Given the description of an element on the screen output the (x, y) to click on. 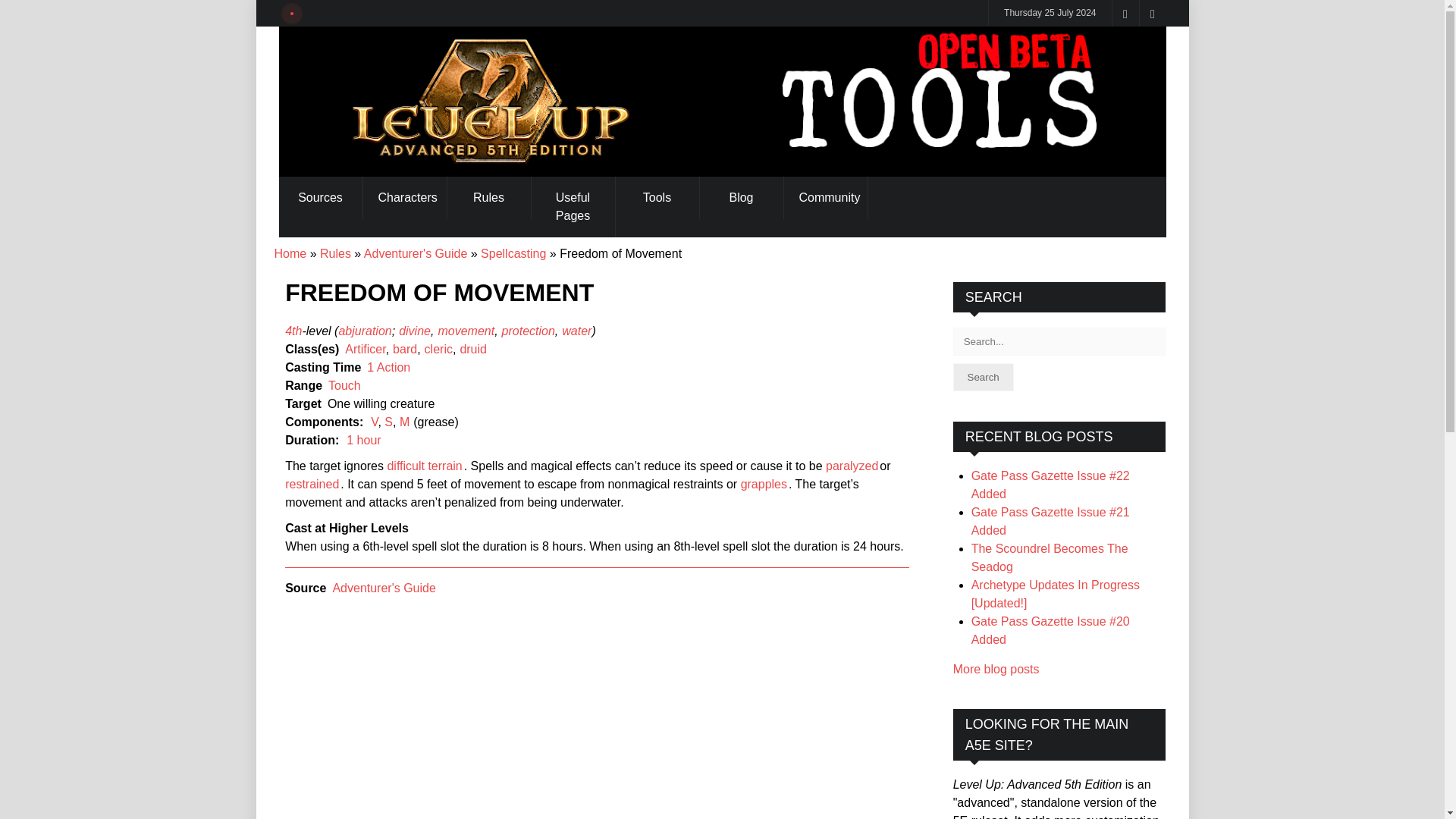
Click to view a local node. (424, 465)
Characters (403, 197)
Sources (320, 197)
Level Up (722, 101)
Enter the terms you wish to search for. (1059, 341)
Click to view a local node. (764, 483)
Click to view a local node. (851, 465)
Rules (488, 197)
Click to view a local node. (312, 483)
Search (983, 377)
